Given the description of an element on the screen output the (x, y) to click on. 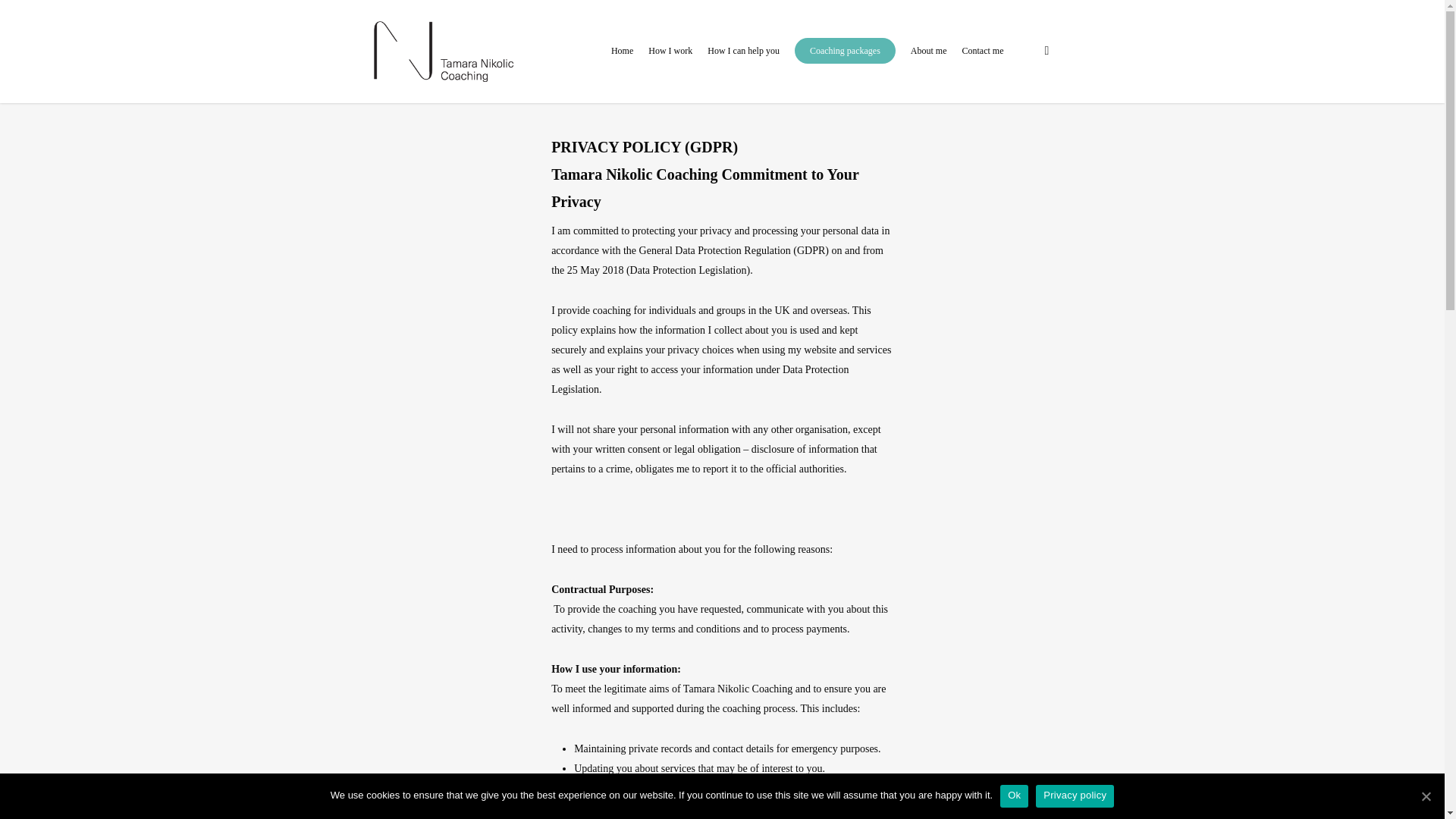
Coaching packages (844, 61)
FAQs (384, 600)
Find out more about me (661, 674)
Testimonials (399, 560)
Coaching Packages (413, 580)
Send me a message (651, 694)
How I can help you (742, 61)
Ok (1013, 795)
Privacy policy (1074, 795)
Privacy Policy (403, 619)
